Given the description of an element on the screen output the (x, y) to click on. 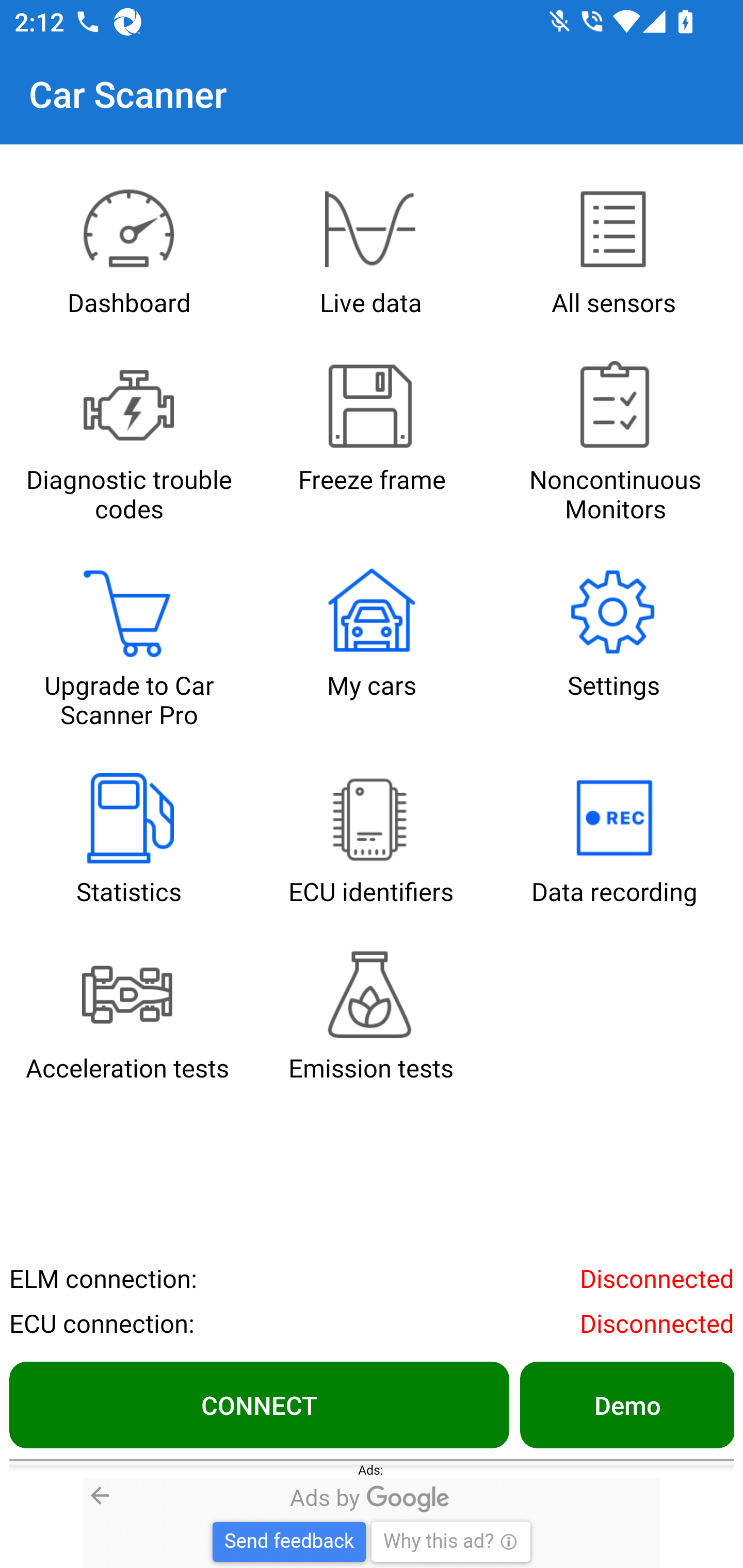
CONNECT (258, 1404)
Demo (627, 1404)
